Given the description of an element on the screen output the (x, y) to click on. 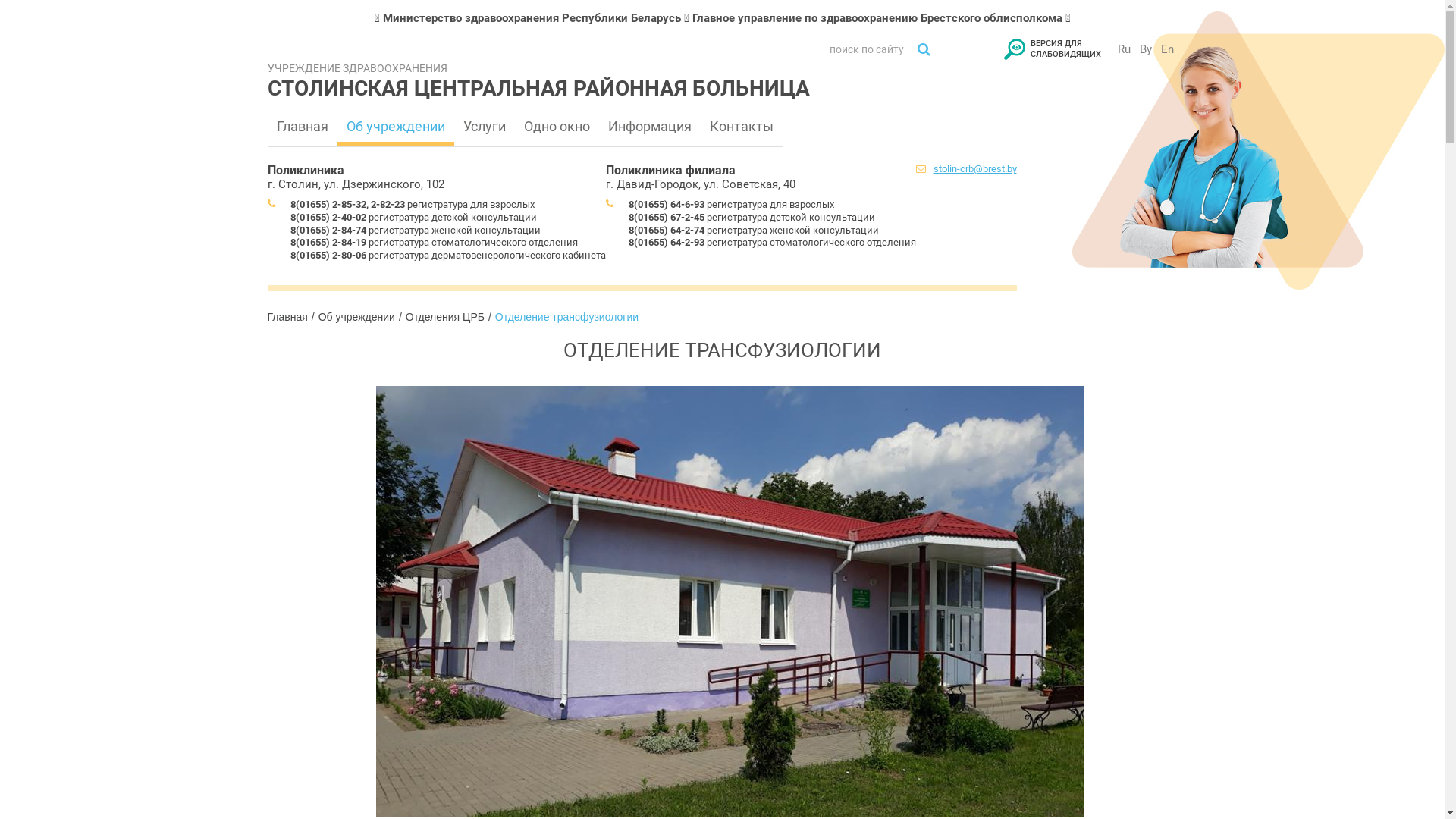
By Element type: text (1145, 48)
Ru Element type: text (1123, 48)
stolin-crb@brest.by Element type: text (974, 168)
En Element type: text (1167, 48)
